Given the description of an element on the screen output the (x, y) to click on. 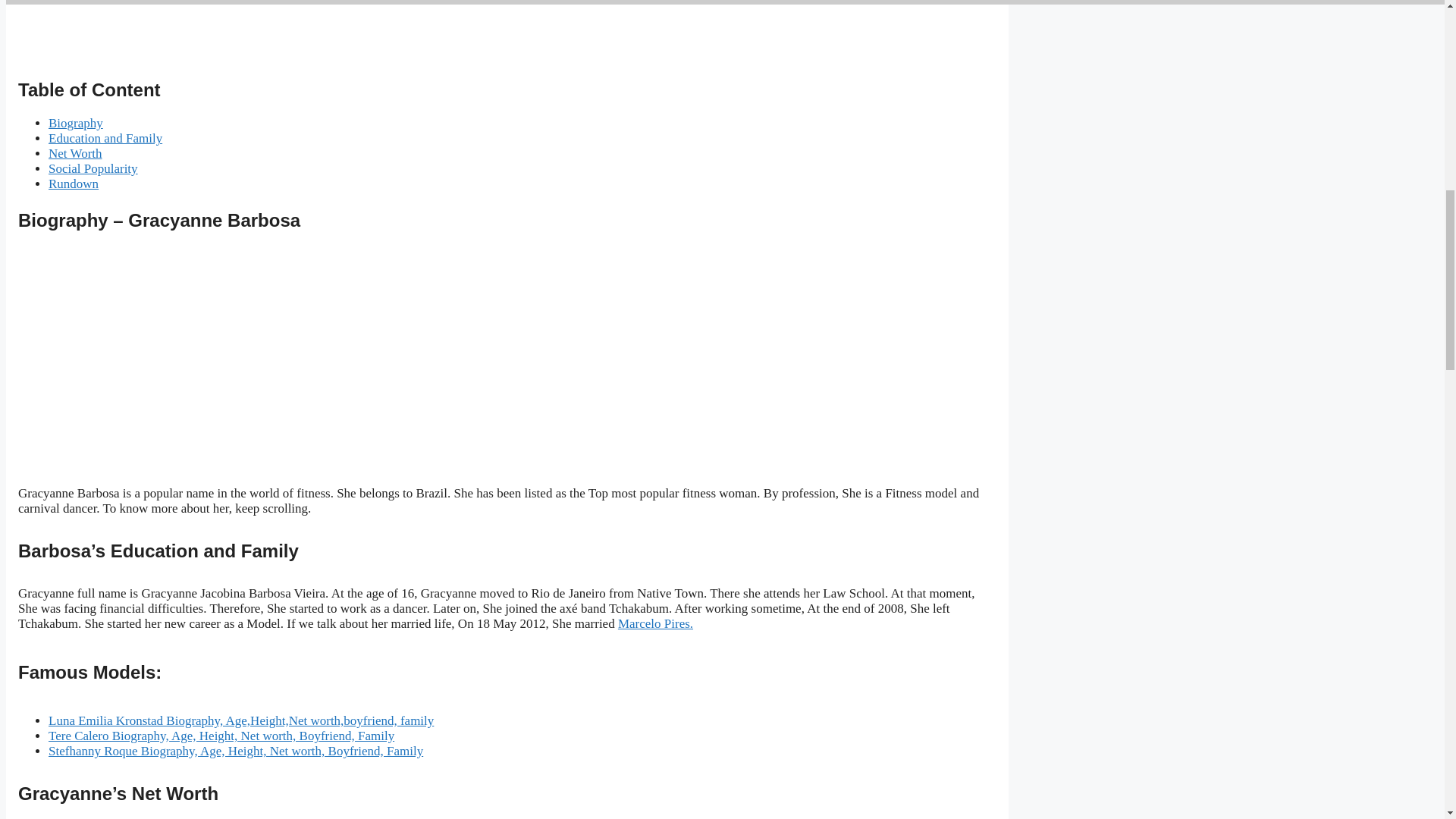
Net Worth (74, 153)
Marcelo Pires. (655, 623)
Gracyanne Barbosa age fitness muscle Instagram boyfriend 3 (173, 361)
Education and Family (104, 138)
Rundown (73, 183)
Social Popularity (93, 168)
Gracyanne Barbosa age fitness muscle Instagram boyfriend 2 (184, 32)
Biography (75, 123)
